Given the description of an element on the screen output the (x, y) to click on. 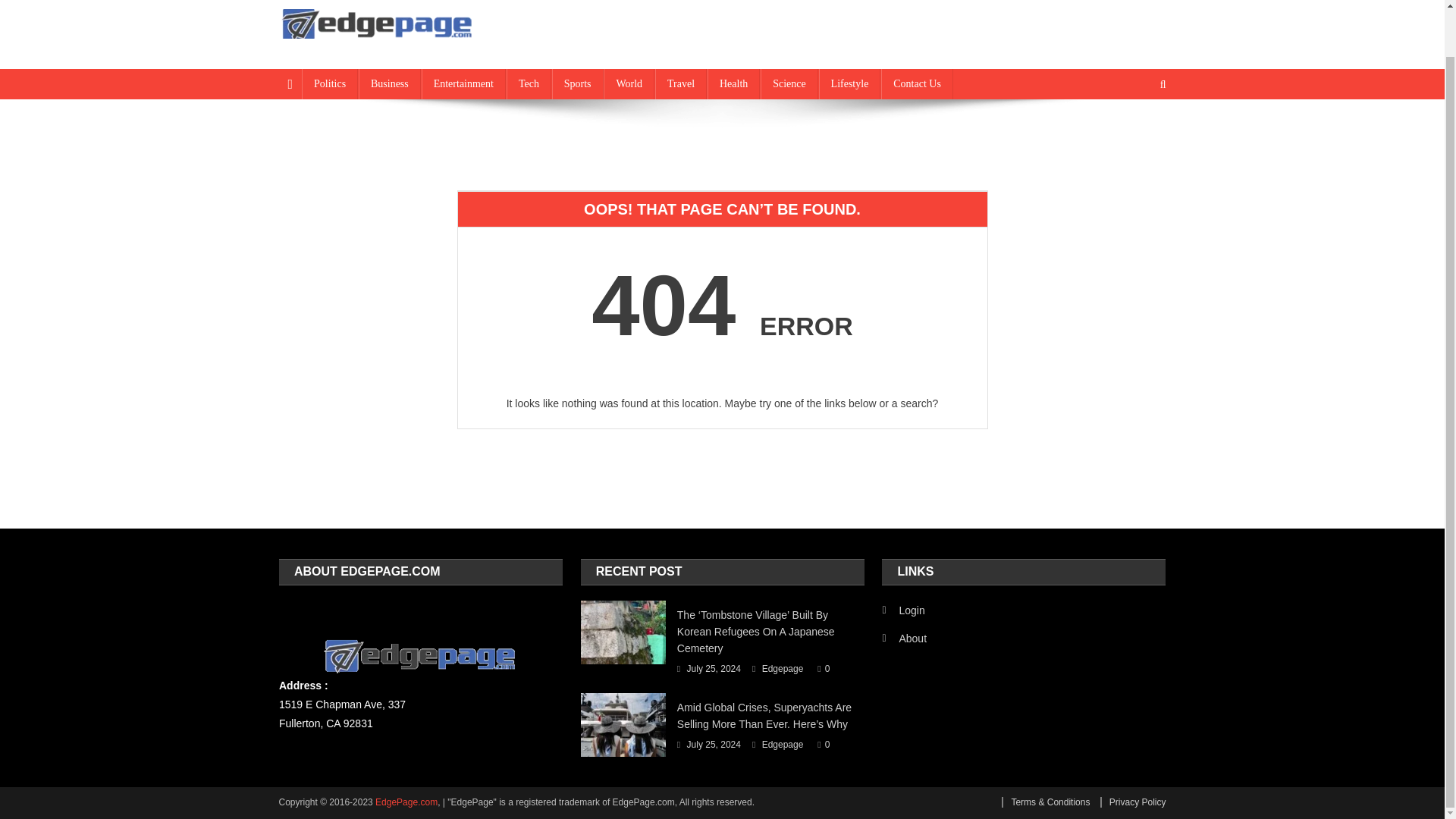
Edge Page News (376, 53)
Travel (680, 83)
July 25, 2024 (714, 745)
Sports (577, 83)
Entertainment (463, 83)
Science (789, 83)
EdgePage.com (406, 801)
July 25, 2024 (714, 669)
Login (903, 609)
Contact Us (916, 83)
About (904, 638)
Business (389, 83)
Edgepage (782, 745)
Edgepage (782, 669)
Search (1133, 134)
